Given the description of an element on the screen output the (x, y) to click on. 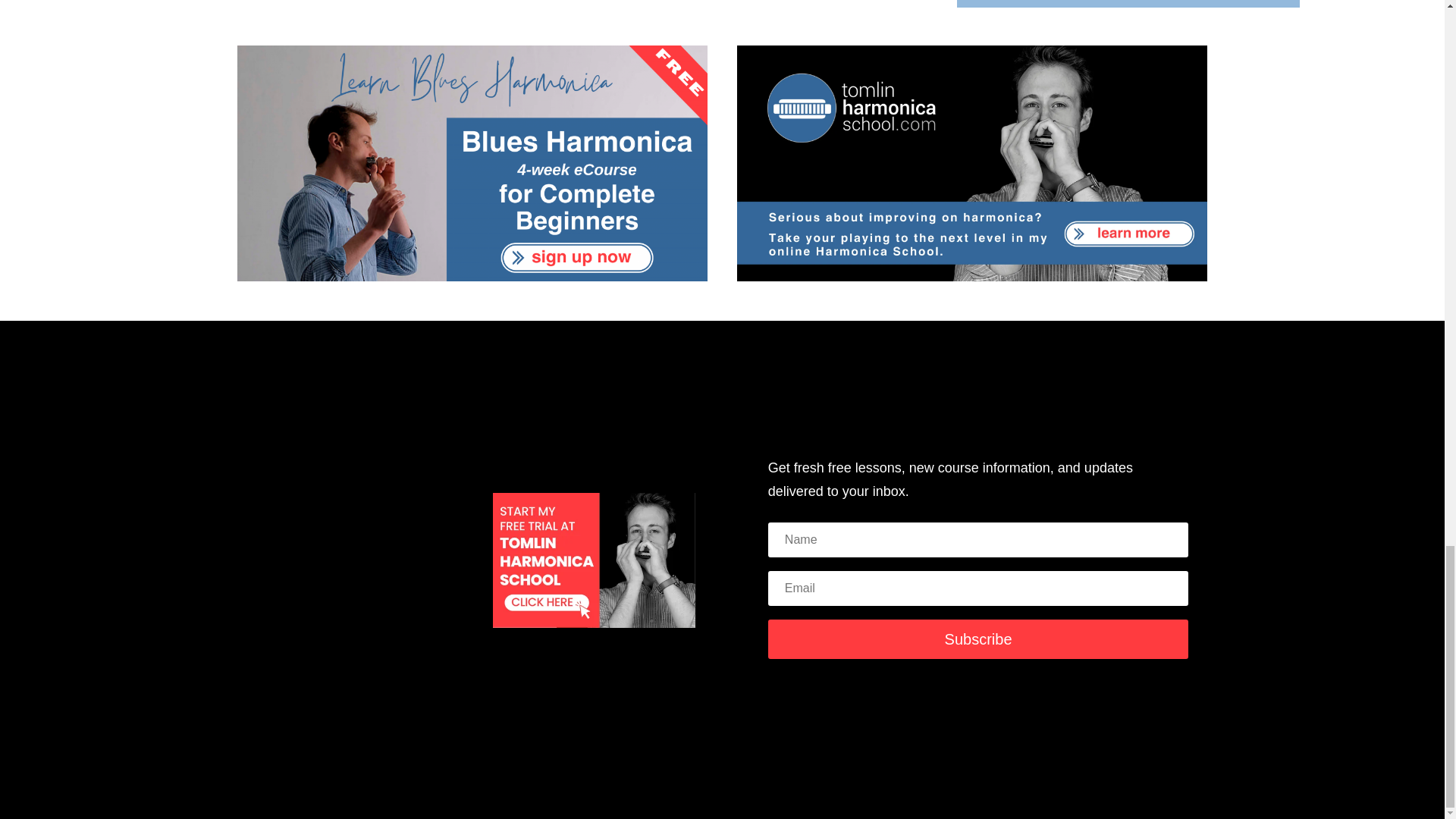
Learn Blues Harmonica 2400p (471, 162)
Tomlin Harmonica School 2400p (972, 162)
